Given the description of an element on the screen output the (x, y) to click on. 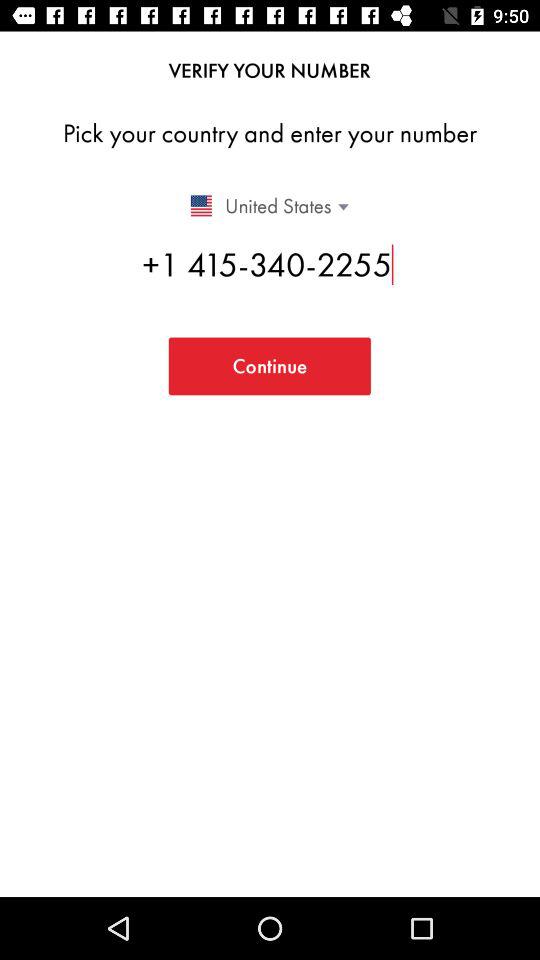
turn on item above the continue (269, 264)
